Given the description of an element on the screen output the (x, y) to click on. 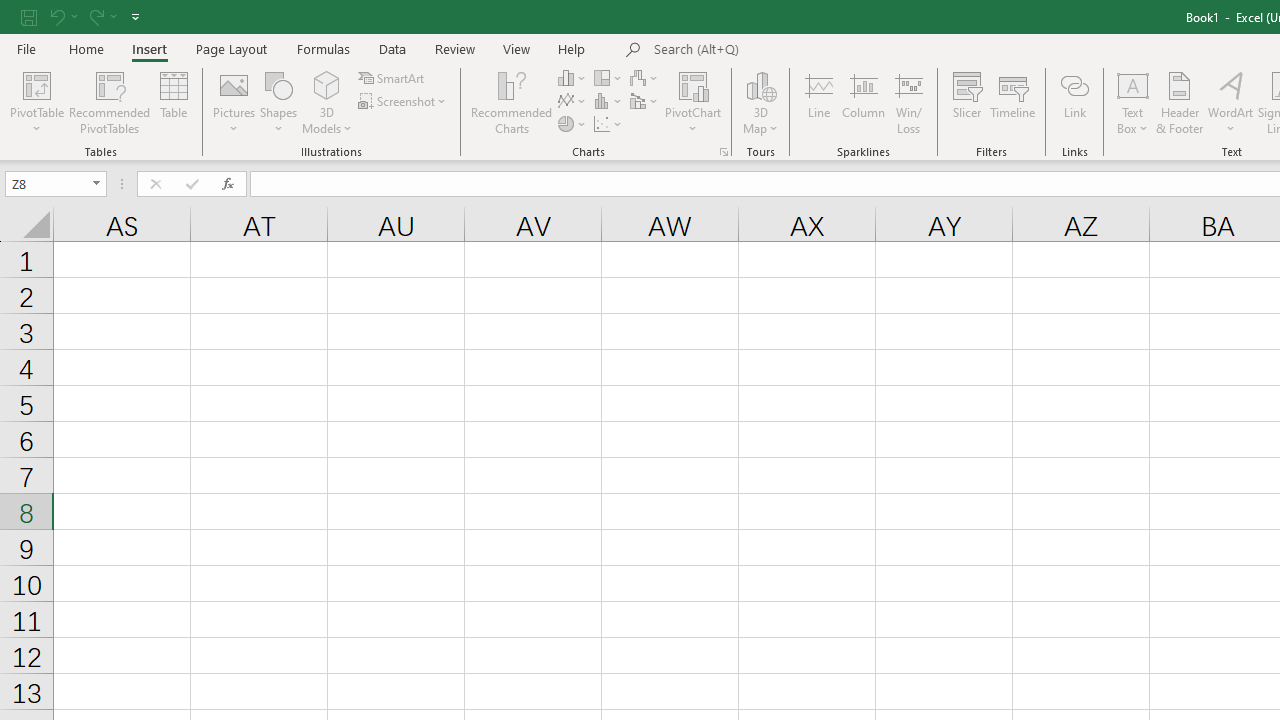
Win/Loss (909, 102)
Insert Pie or Doughnut Chart (573, 124)
PivotTable (36, 102)
SmartArt... (392, 78)
Recommended Charts (723, 151)
Table (173, 102)
